Given the description of an element on the screen output the (x, y) to click on. 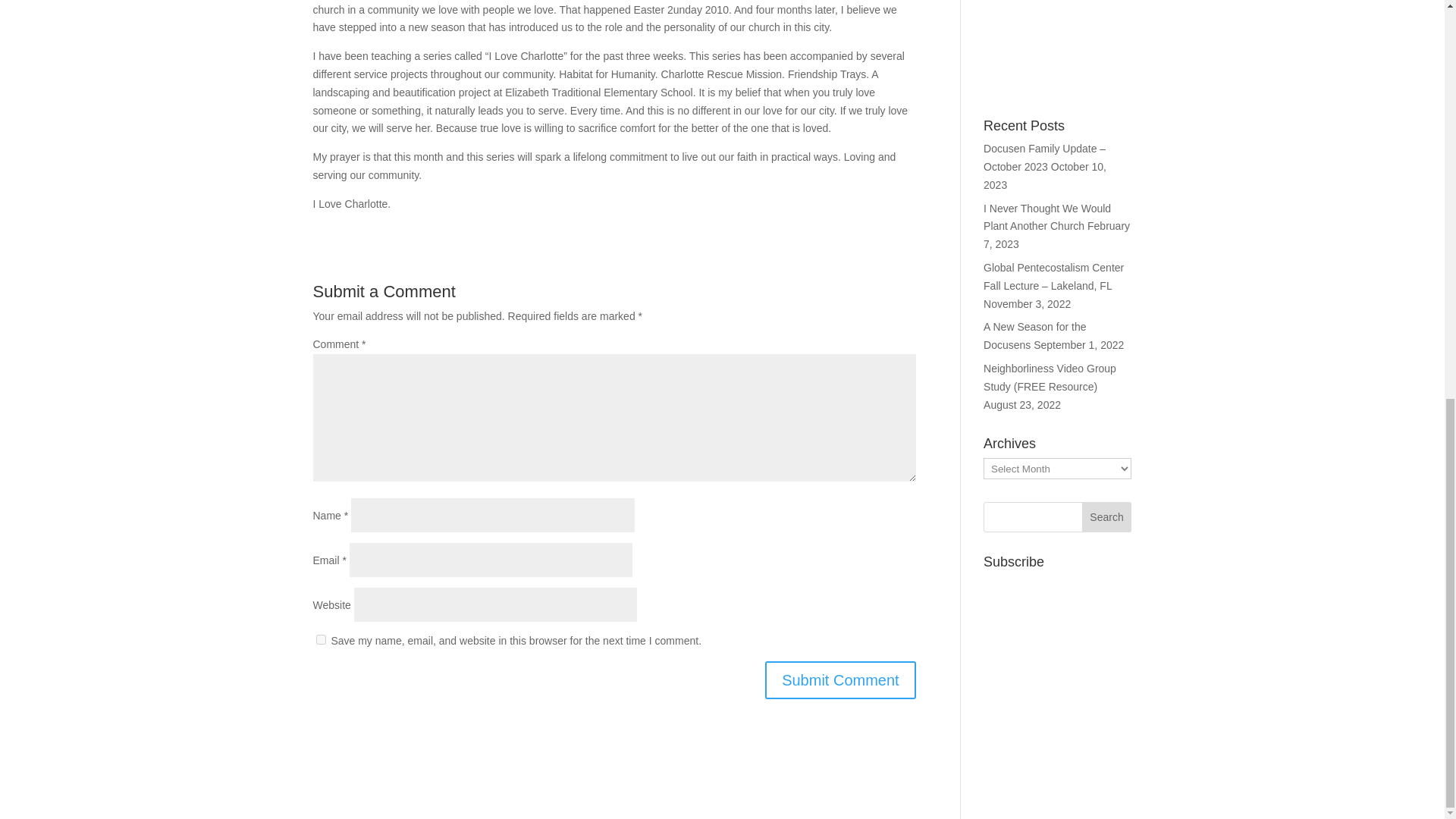
Search (1106, 517)
Search (1106, 517)
I Never Thought We Would Plant Another Church (1047, 217)
A New Season for the Docusens (1035, 336)
Submit Comment (840, 679)
yes (319, 639)
Submit Comment (840, 679)
